Given the description of an element on the screen output the (x, y) to click on. 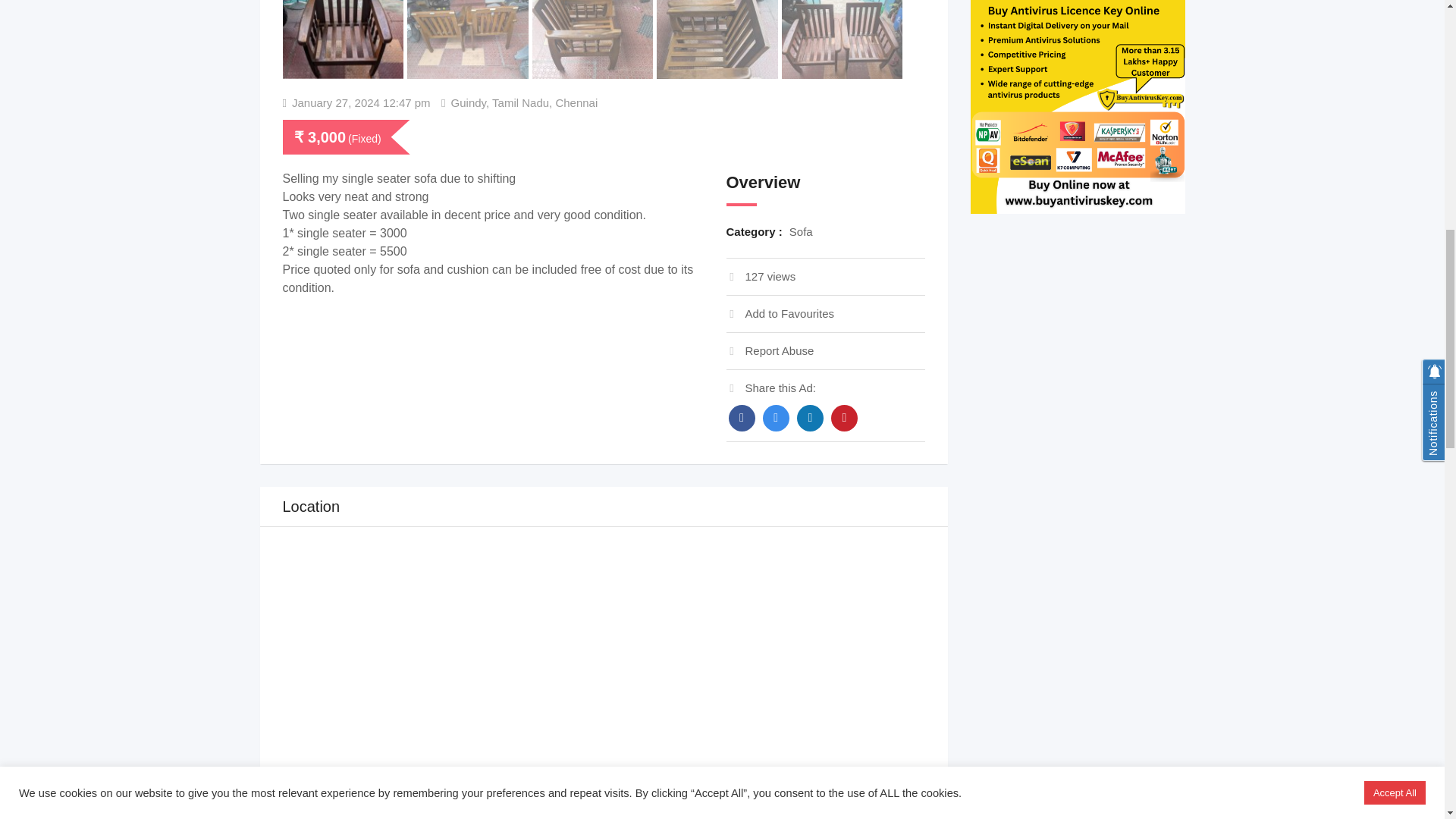
Report Abuse (769, 350)
Add to Favourites (780, 313)
